Given the description of an element on the screen output the (x, y) to click on. 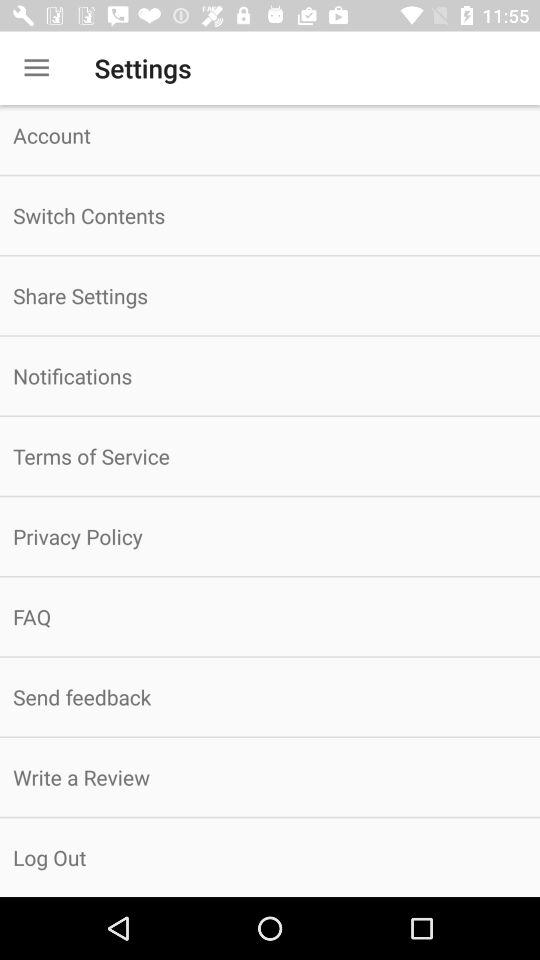
tap the faq item (270, 616)
